Given the description of an element on the screen output the (x, y) to click on. 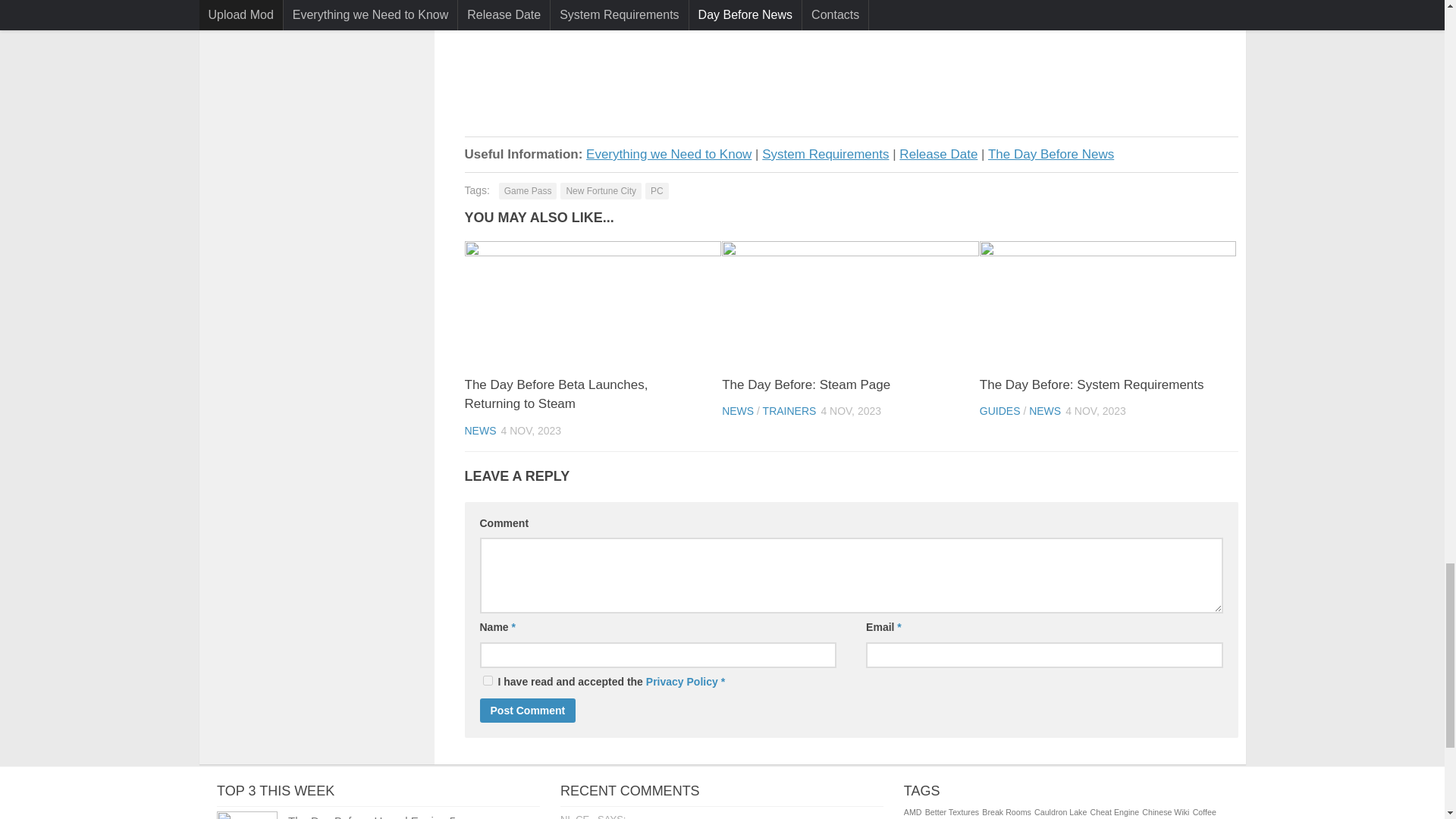
The Day Before: Steam Page (805, 384)
policy-key (486, 680)
The Day Before: Unreal Engine 5 (371, 816)
System Requirements (824, 154)
The Day Before Beta Launches, Returning to Steam (555, 394)
The Day Before: System Requirements (1107, 301)
NEWS (480, 430)
Game Pass (528, 190)
The Day Before News (1050, 154)
The Day Before: Unreal Engine 5 (247, 815)
